Given the description of an element on the screen output the (x, y) to click on. 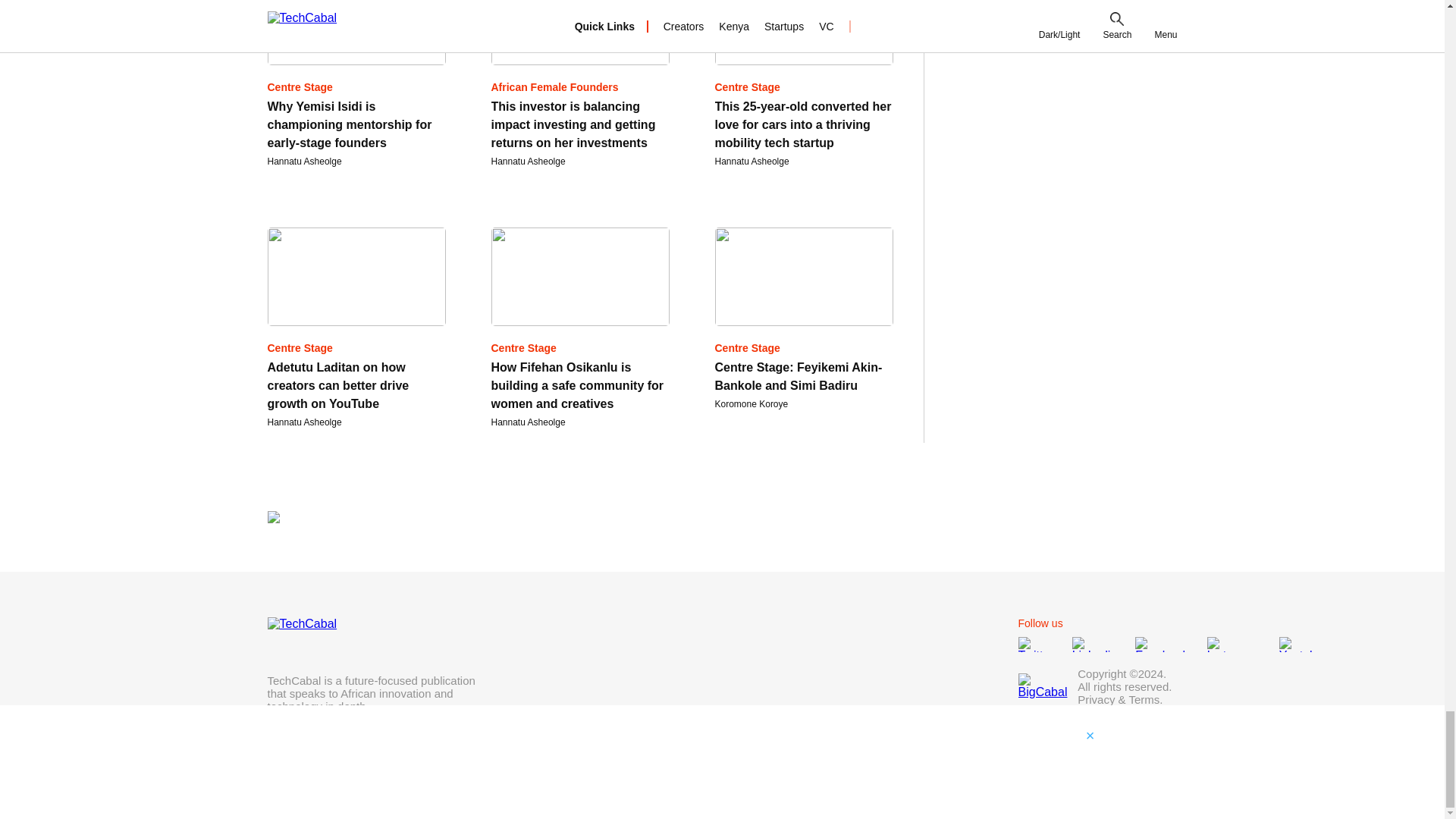
Posts by Koromone Koroye (750, 403)
Posts by Hannatu Asheolge (303, 161)
Posts by Hannatu Asheolge (529, 161)
Posts by Hannatu Asheolge (529, 421)
Posts by Hannatu Asheolge (751, 161)
Posts by Hannatu Asheolge (303, 421)
